Given the description of an element on the screen output the (x, y) to click on. 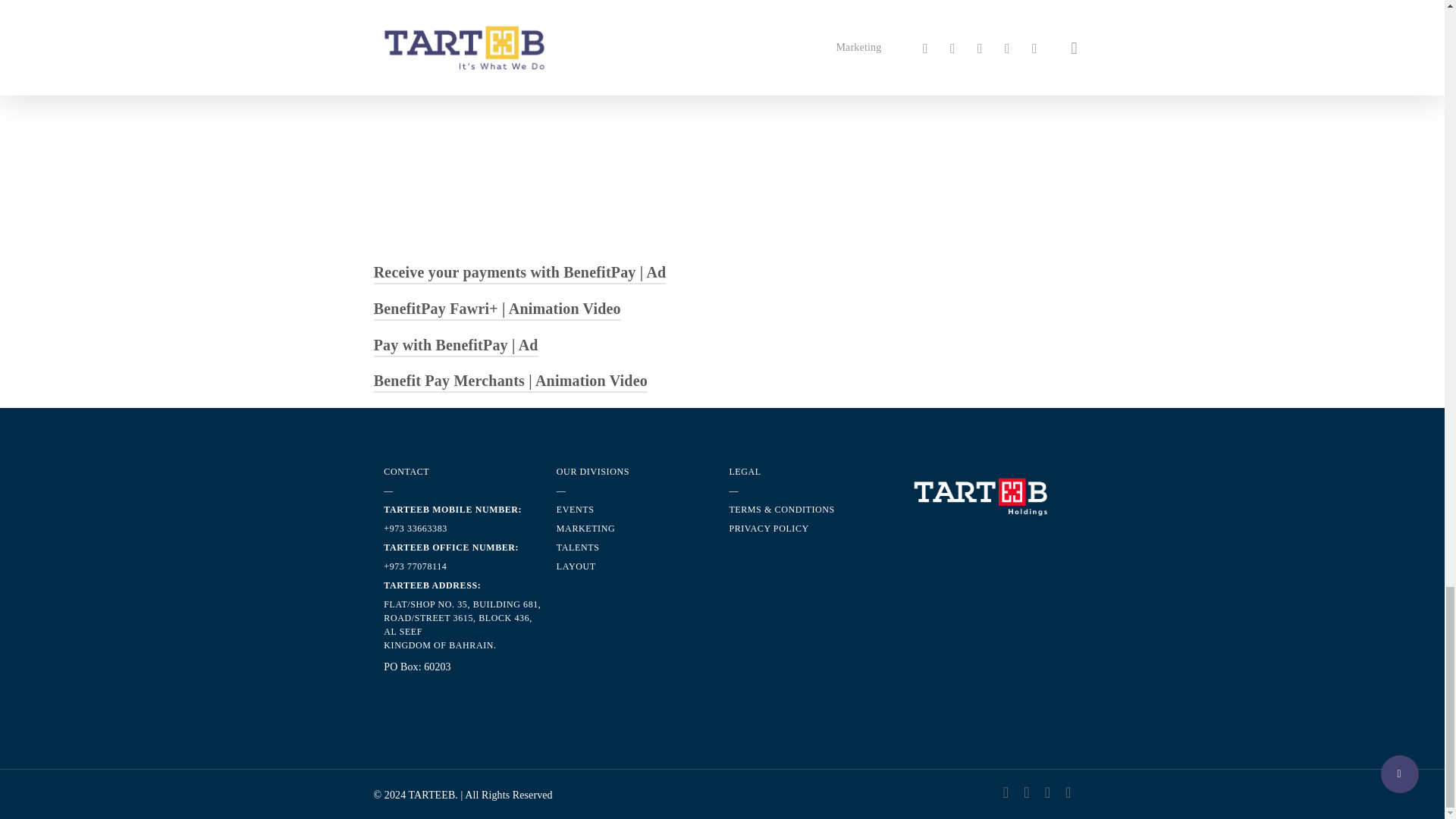
TARTEEB MOBILE NUMBER: (452, 509)
